Given the description of an element on the screen output the (x, y) to click on. 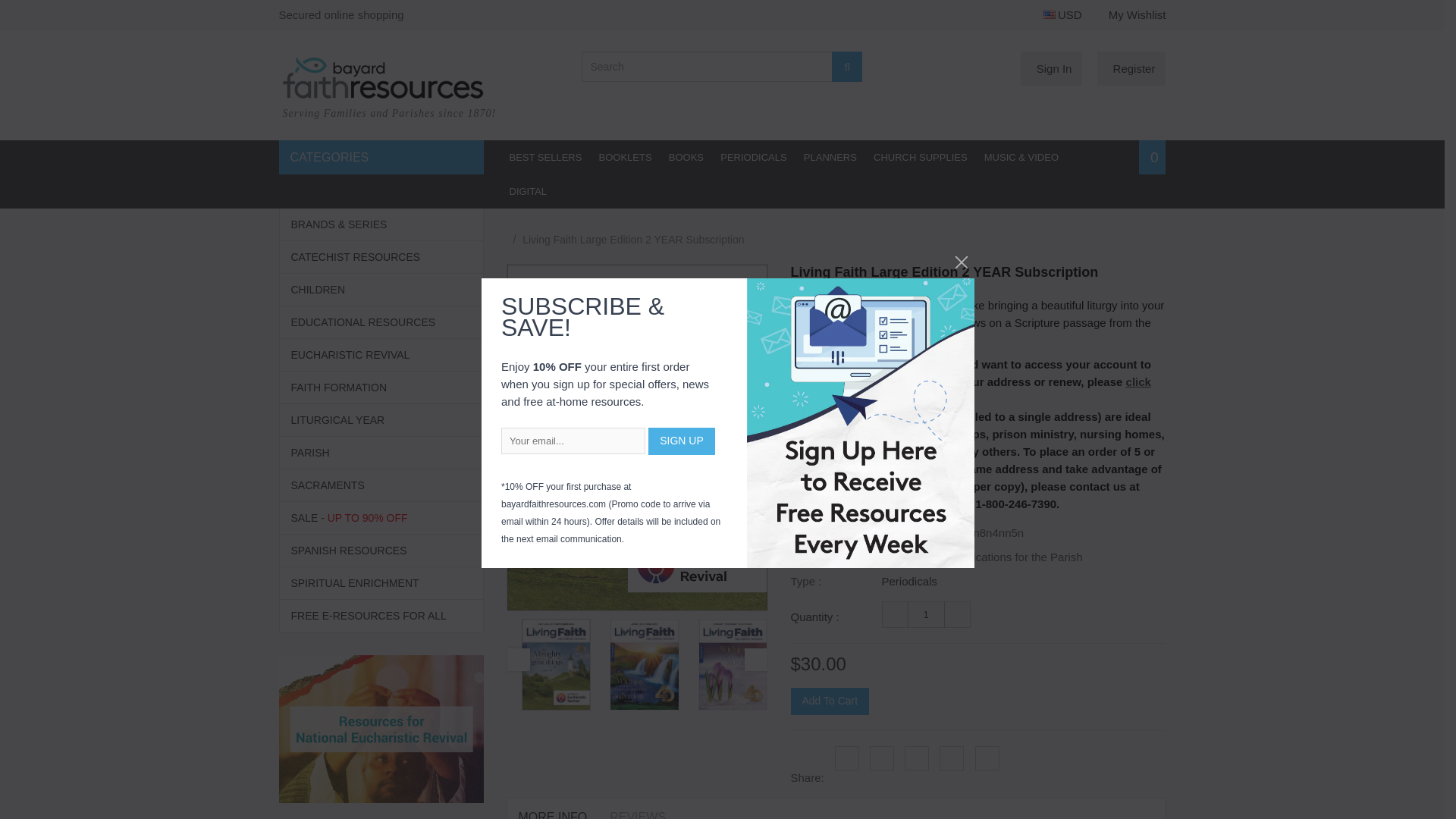
Decrease (893, 614)
cart (1152, 157)
1 (924, 614)
Login (1051, 68)
Increase (956, 614)
Bayard Faith Resources (419, 97)
Linkedin (916, 758)
Twitter (881, 758)
Email (986, 758)
My Wishlist (1137, 14)
Periodicals (908, 581)
Facebook (846, 758)
Pinterest (951, 758)
